Given the description of an element on the screen output the (x, y) to click on. 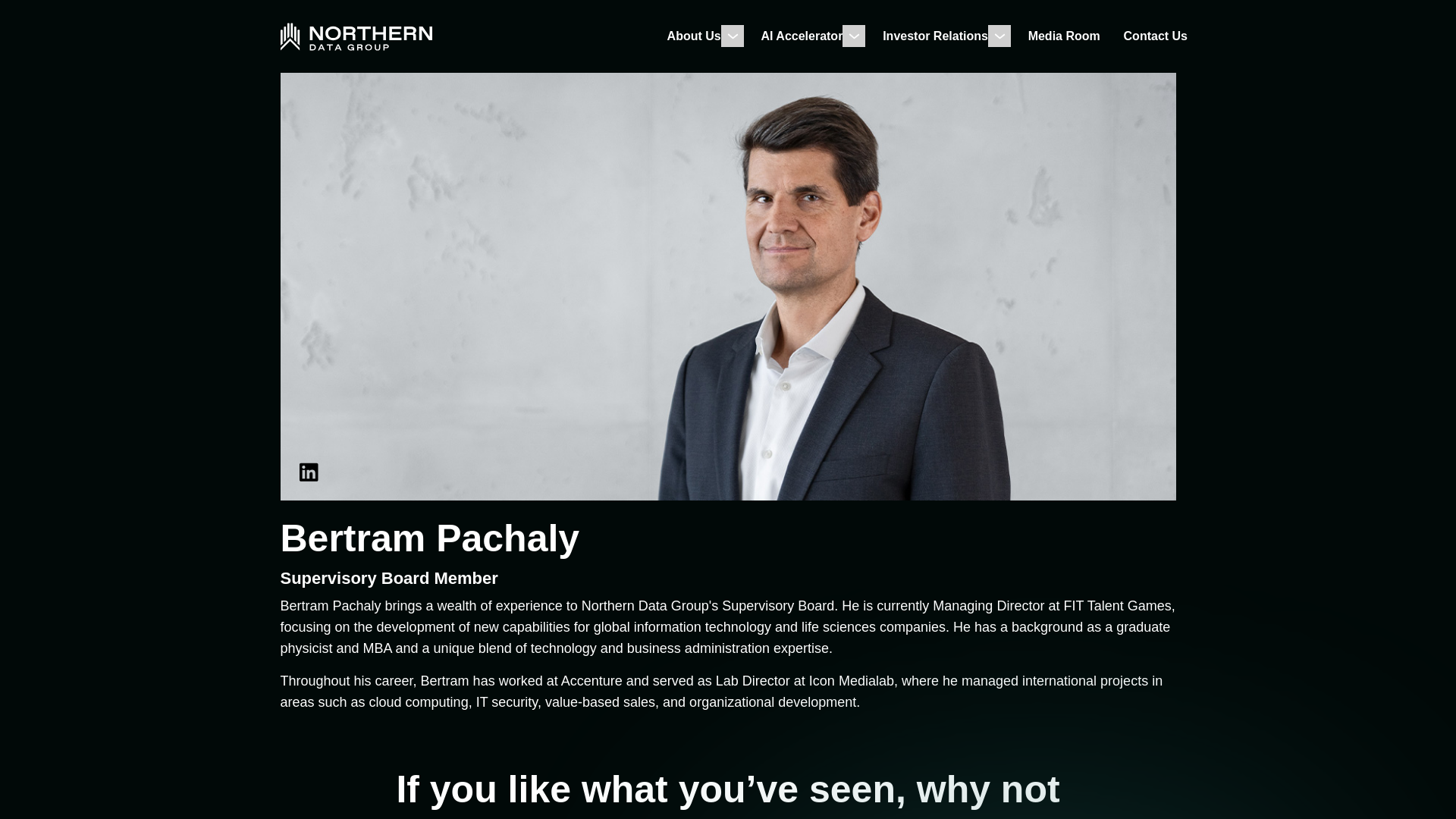
Show submenu for About Us (732, 35)
About Us (693, 35)
Media Room (1063, 35)
Show submenu for AI Accelerator (853, 35)
Show submenu for Investor Relations (999, 35)
Contact Us (1156, 35)
Investor Relations (935, 35)
Northern Data Group (356, 36)
AI Accelerator (801, 35)
